Given the description of an element on the screen output the (x, y) to click on. 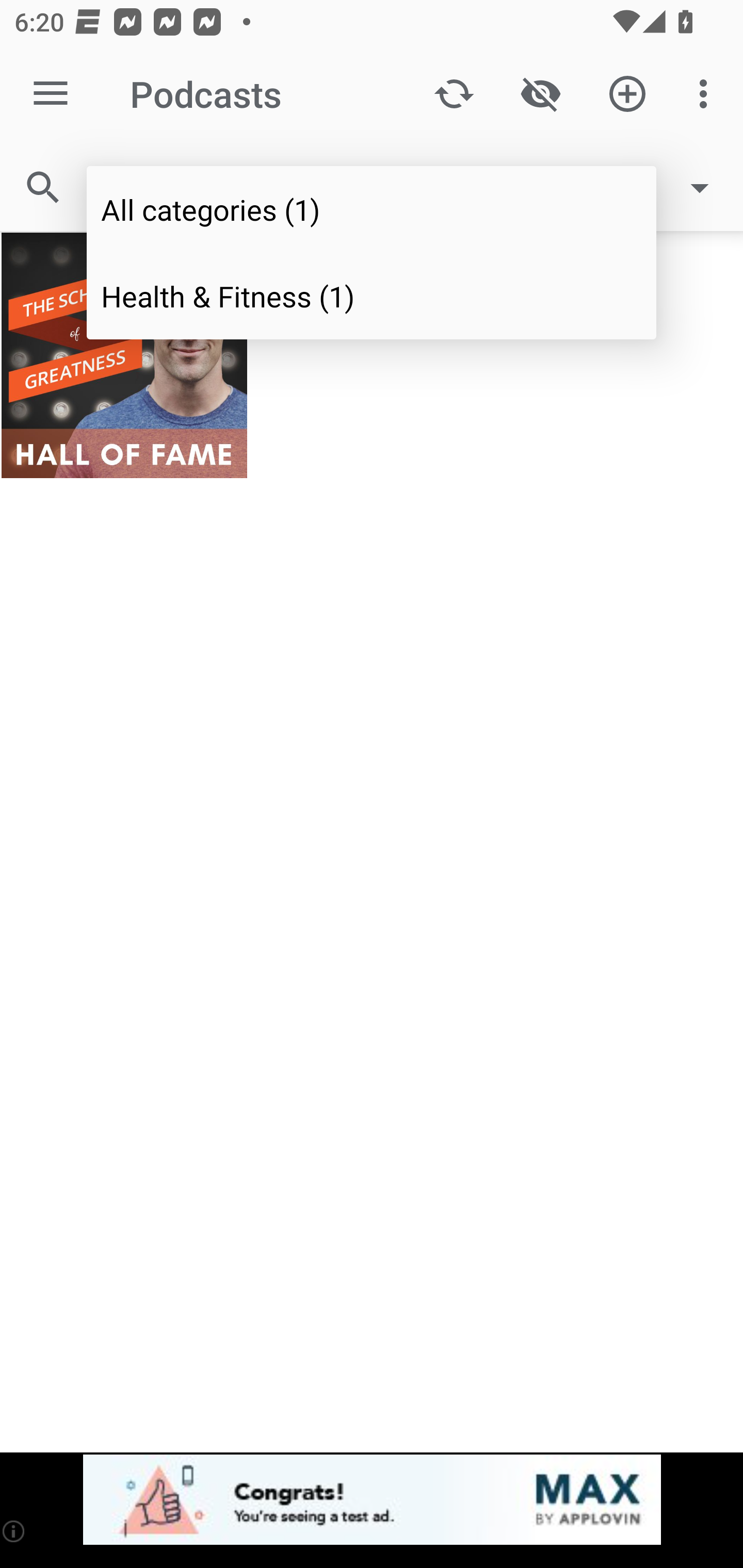
All categories (1) (371, 209)
Health & Fitness (1) (371, 295)
